Given the description of an element on the screen output the (x, y) to click on. 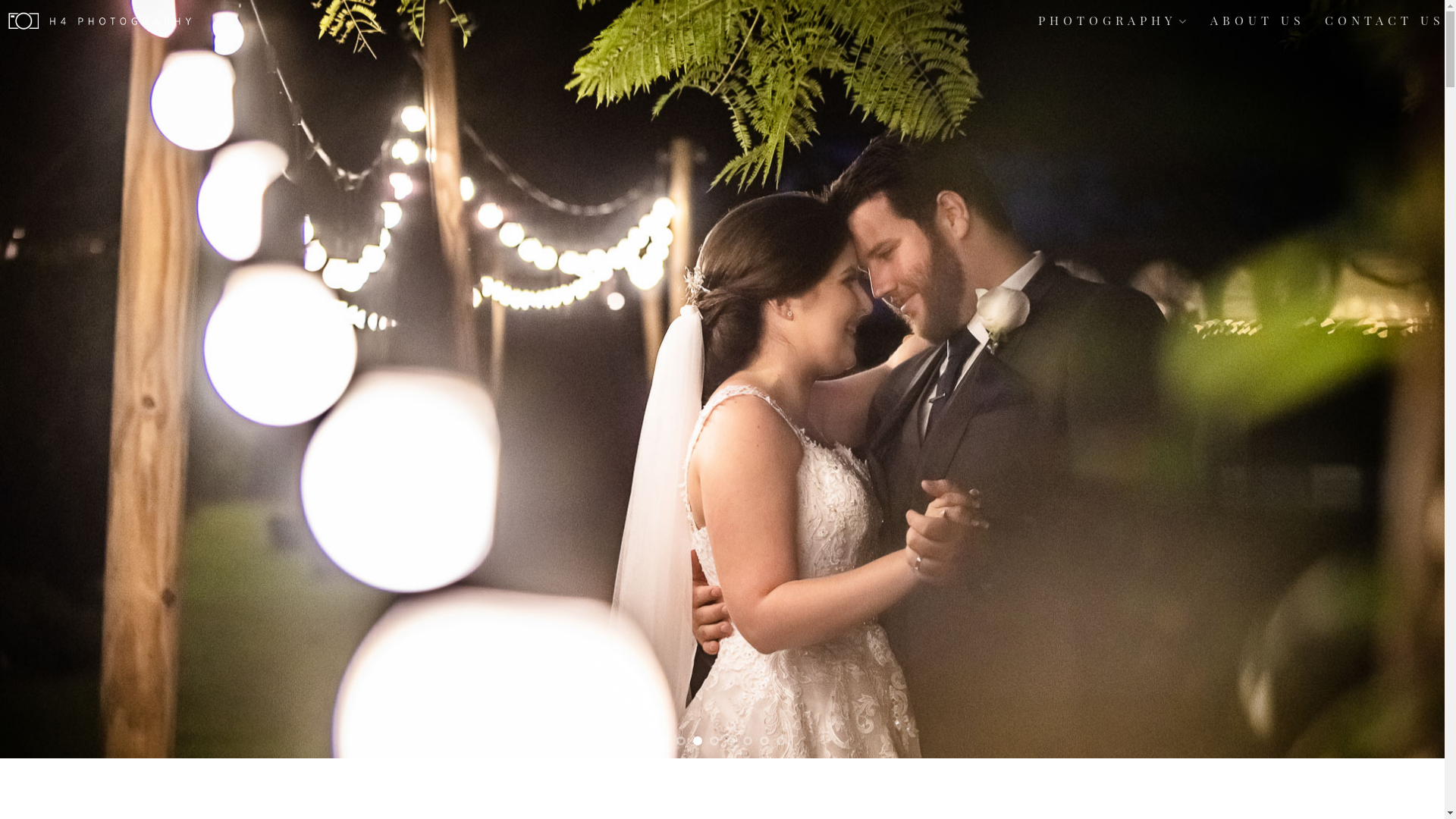
PHOTOGRAPHY Element type: text (1114, 19)
Skip to content Element type: text (0, 0)
ABOUT US Element type: text (1257, 19)
CONTACT US Element type: text (1384, 19)
H4 Photography -  Element type: hover (120, 20)
